Given the description of an element on the screen output the (x, y) to click on. 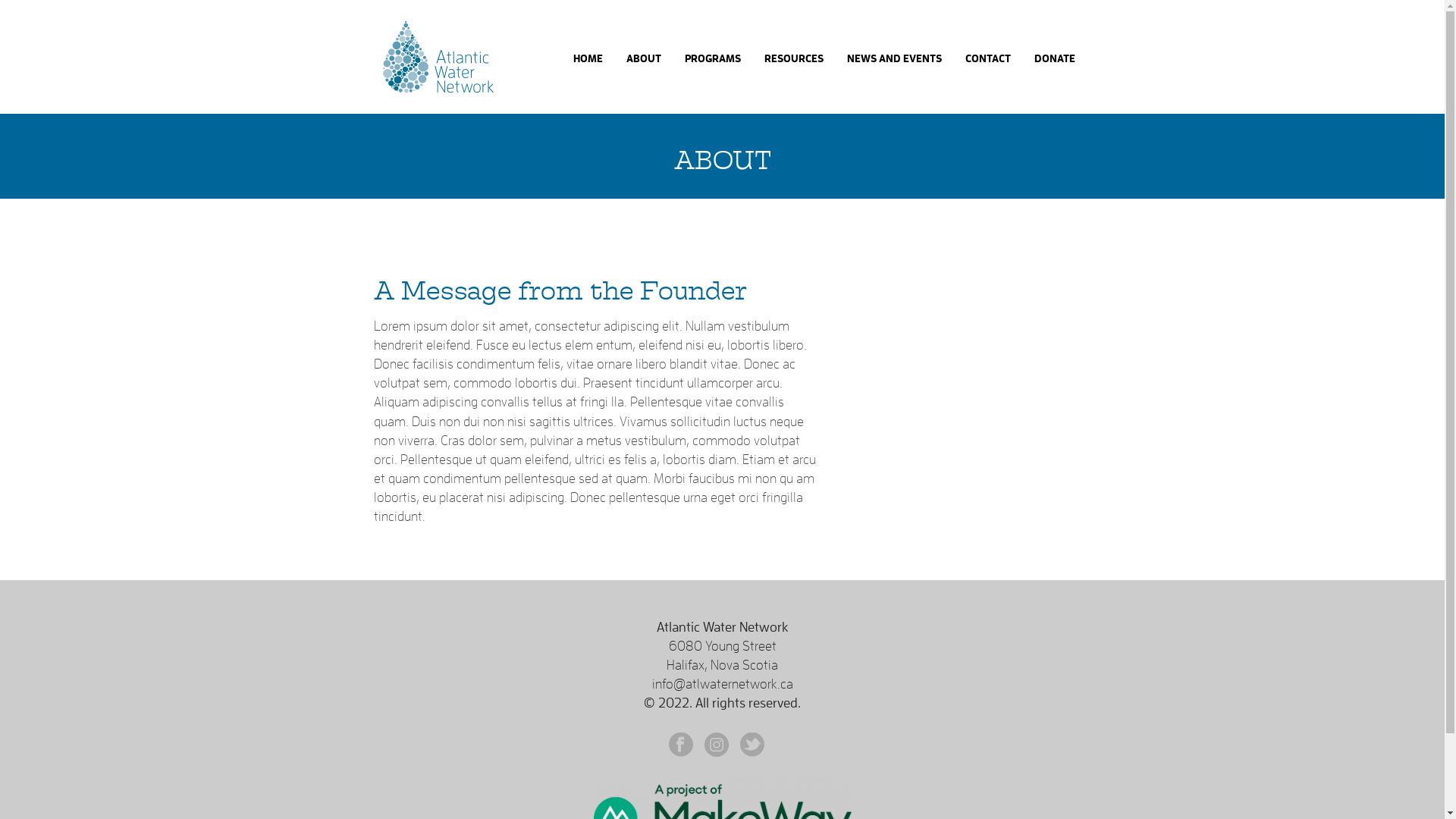
PROGRAMS Element type: text (712, 56)
CONTACT Element type: text (987, 56)
HOME Element type: text (587, 56)
RESOURCES Element type: text (793, 56)
Follow Us on instagram Element type: hover (716, 745)
Follow Us on facebook Element type: hover (680, 745)
DONATE Element type: text (1053, 56)
Follow Us on twitter Element type: hover (752, 745)
ABOUT Element type: text (642, 56)
NEWS AND EVENTS Element type: text (894, 56)
